Given the description of an element on the screen output the (x, y) to click on. 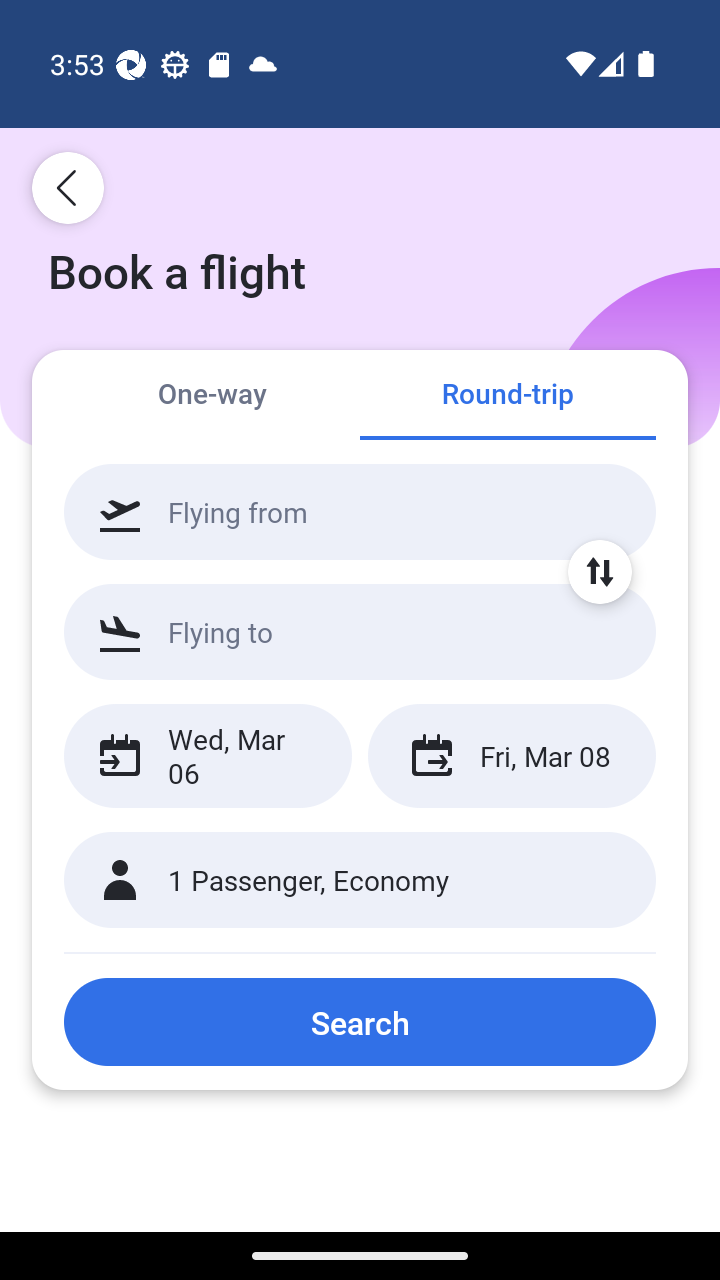
One-way (212, 394)
Flying from (359, 511)
Flying to (359, 631)
Wed, Mar 06 (208, 755)
Fri, Mar 08 (511, 755)
1 Passenger, Economy (359, 880)
Search (359, 1022)
